Given the description of an element on the screen output the (x, y) to click on. 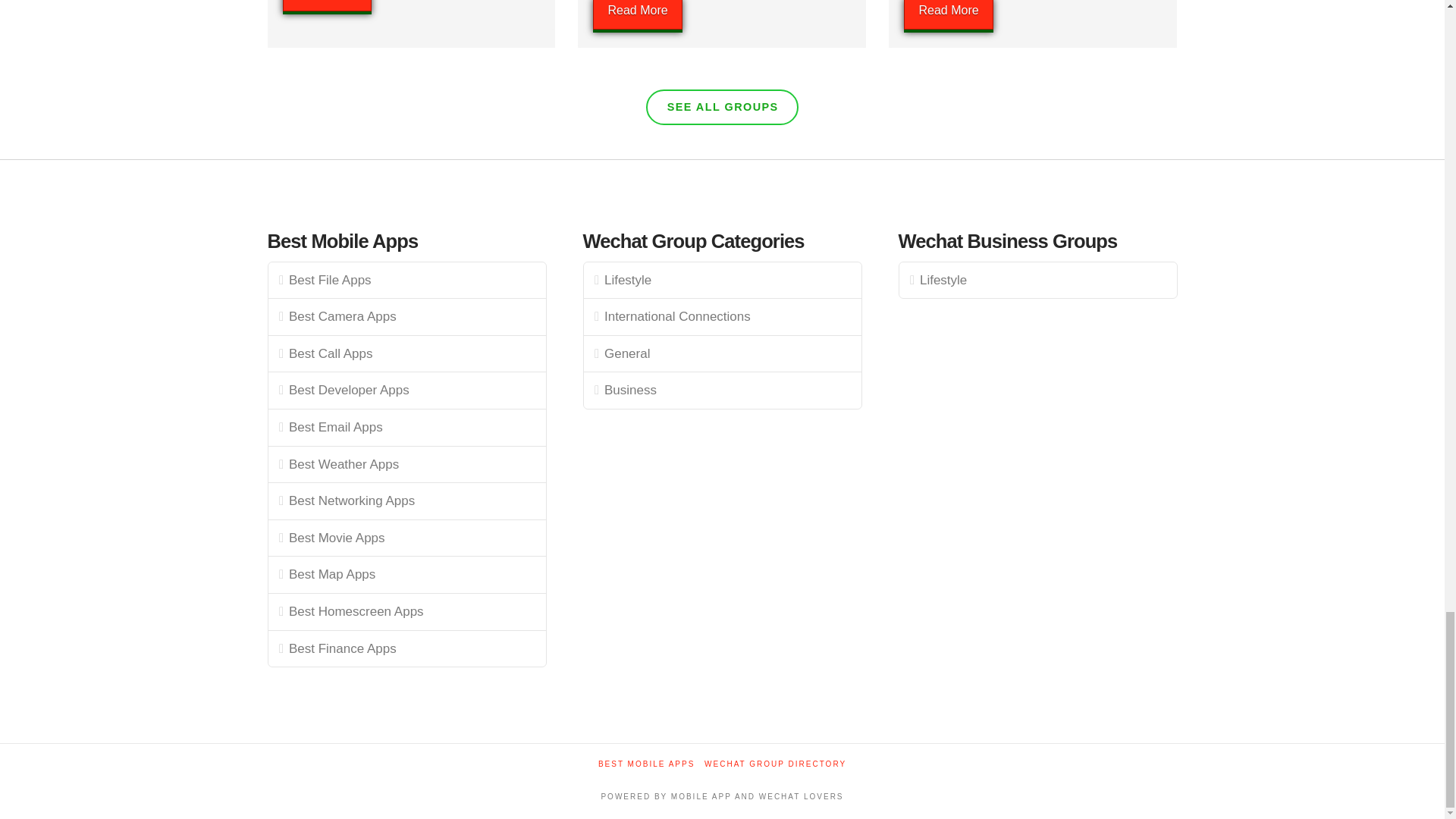
Read More (636, 14)
Read More (326, 6)
